Given the description of an element on the screen output the (x, y) to click on. 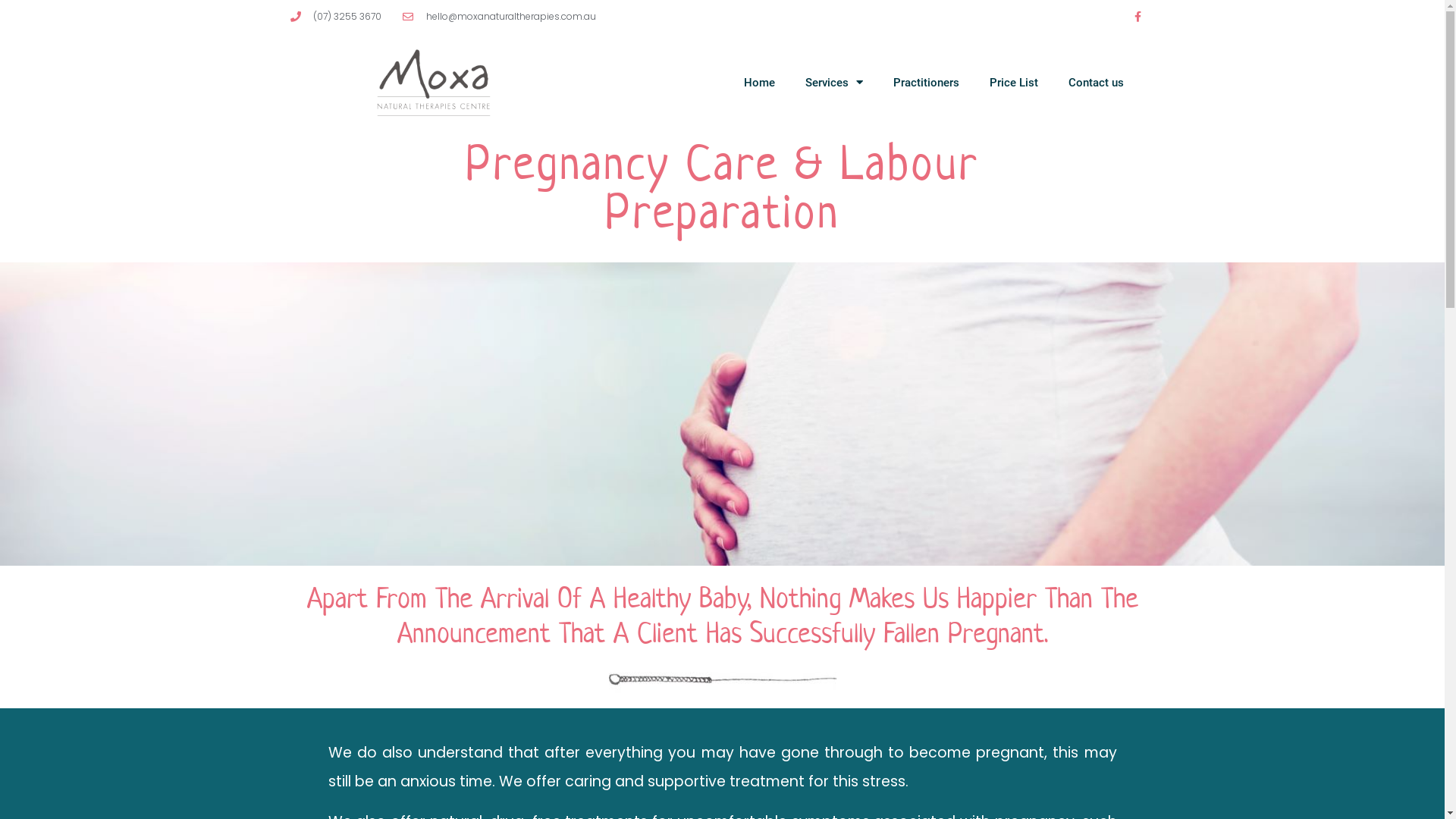
Contact us Element type: text (1096, 82)
Services Element type: text (834, 82)
Practitioners Element type: text (926, 82)
Home Element type: text (759, 82)
Price List Element type: text (1013, 82)
